Given the description of an element on the screen output the (x, y) to click on. 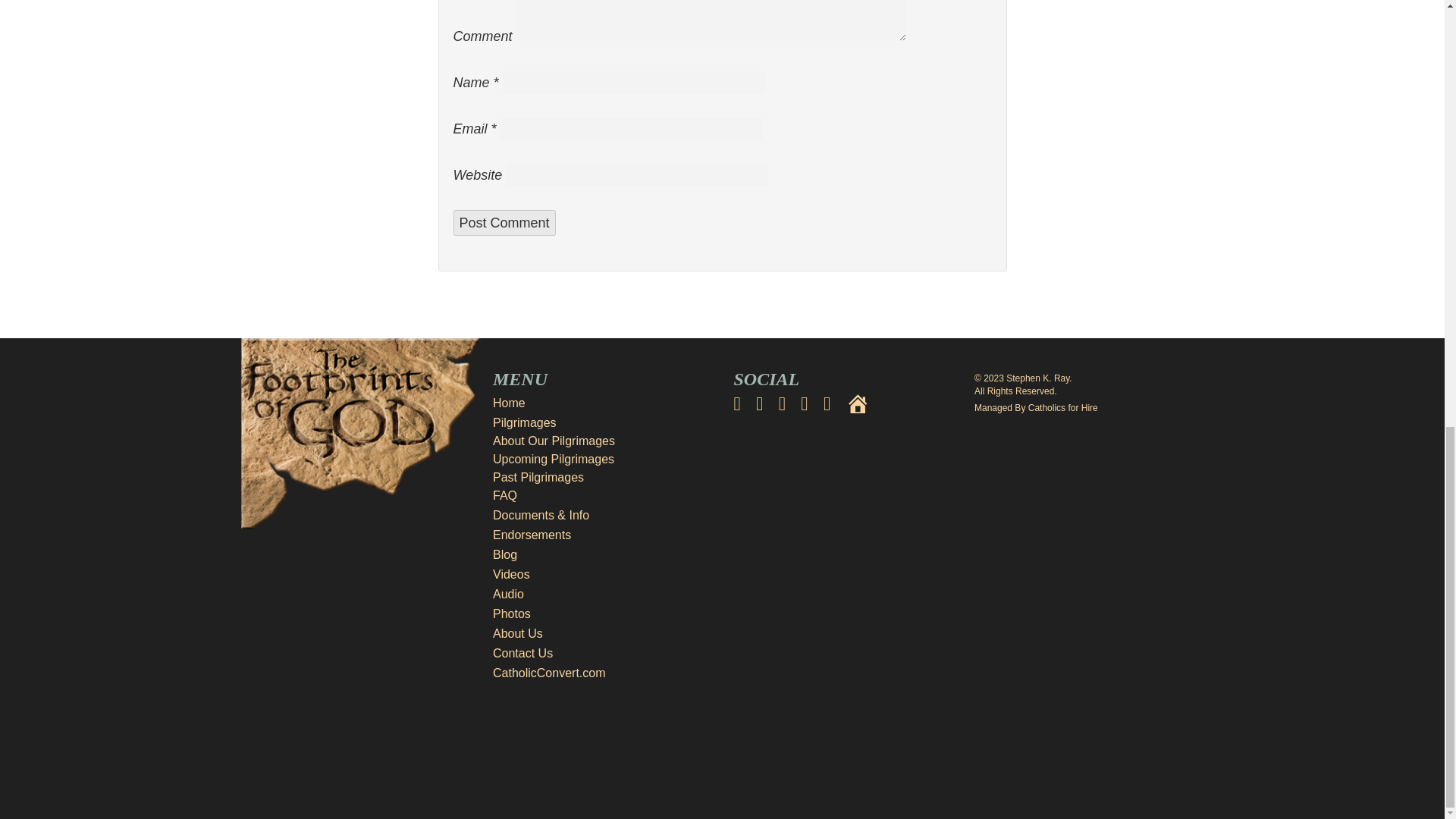
Post Comment (504, 222)
About Our Pilgrimages (553, 440)
Post Comment (504, 222)
About Us (602, 633)
Photos (602, 614)
Endorsements (602, 535)
Past Pilgrimages (538, 477)
Audio (602, 594)
Contact Us (602, 653)
CatholicConvert.com (602, 673)
